Given the description of an element on the screen output the (x, y) to click on. 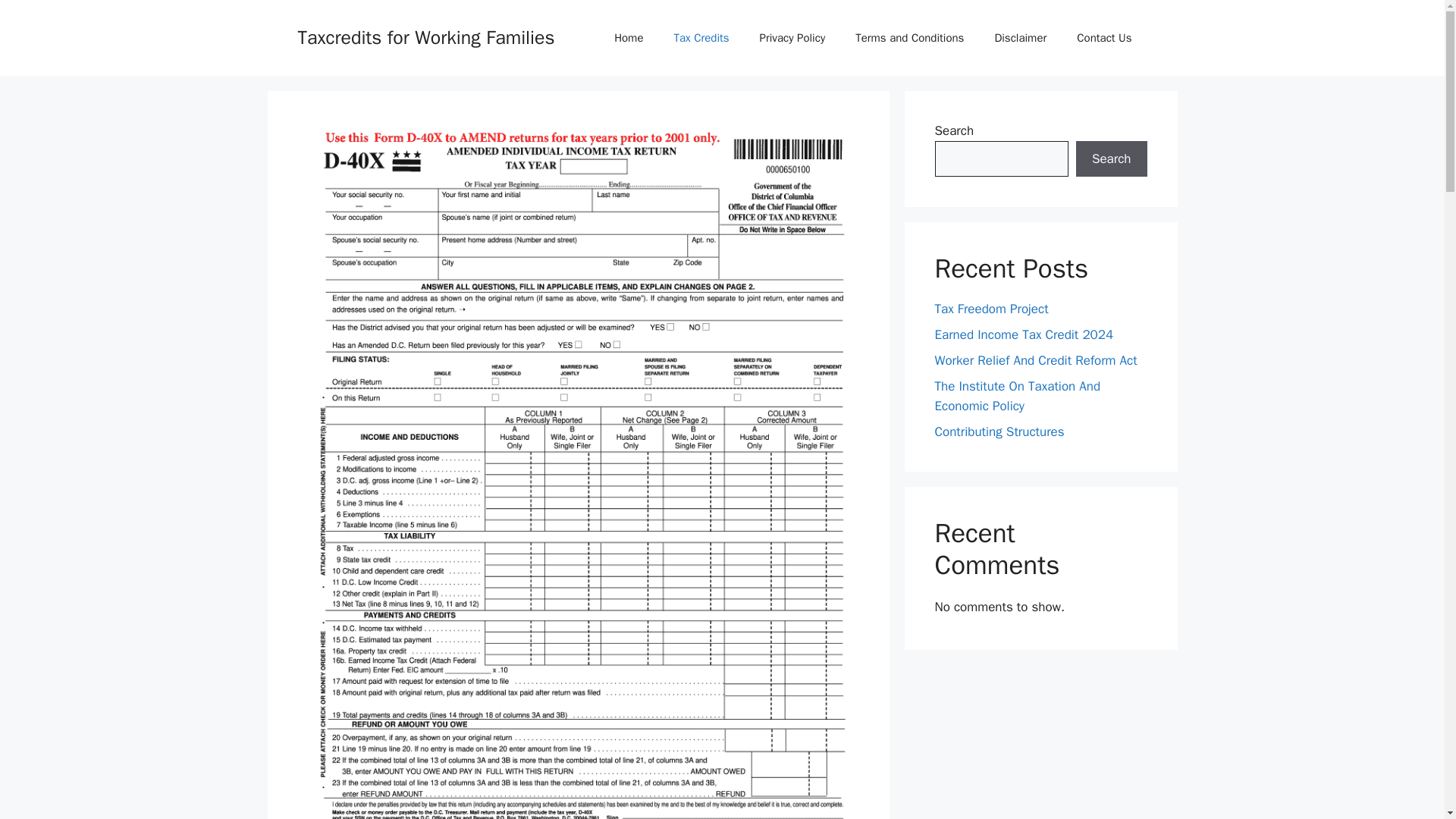
Taxcredits for Working Families (425, 37)
Contact Us (1104, 37)
Search (1111, 158)
Disclaimer (1019, 37)
Terms and Conditions (909, 37)
Tax Freedom Project (991, 308)
Home (628, 37)
Tax Credits (701, 37)
Worker Relief And Credit Reform Act (1035, 360)
The Institute On Taxation And Economic Policy (1017, 396)
